Given the description of an element on the screen output the (x, y) to click on. 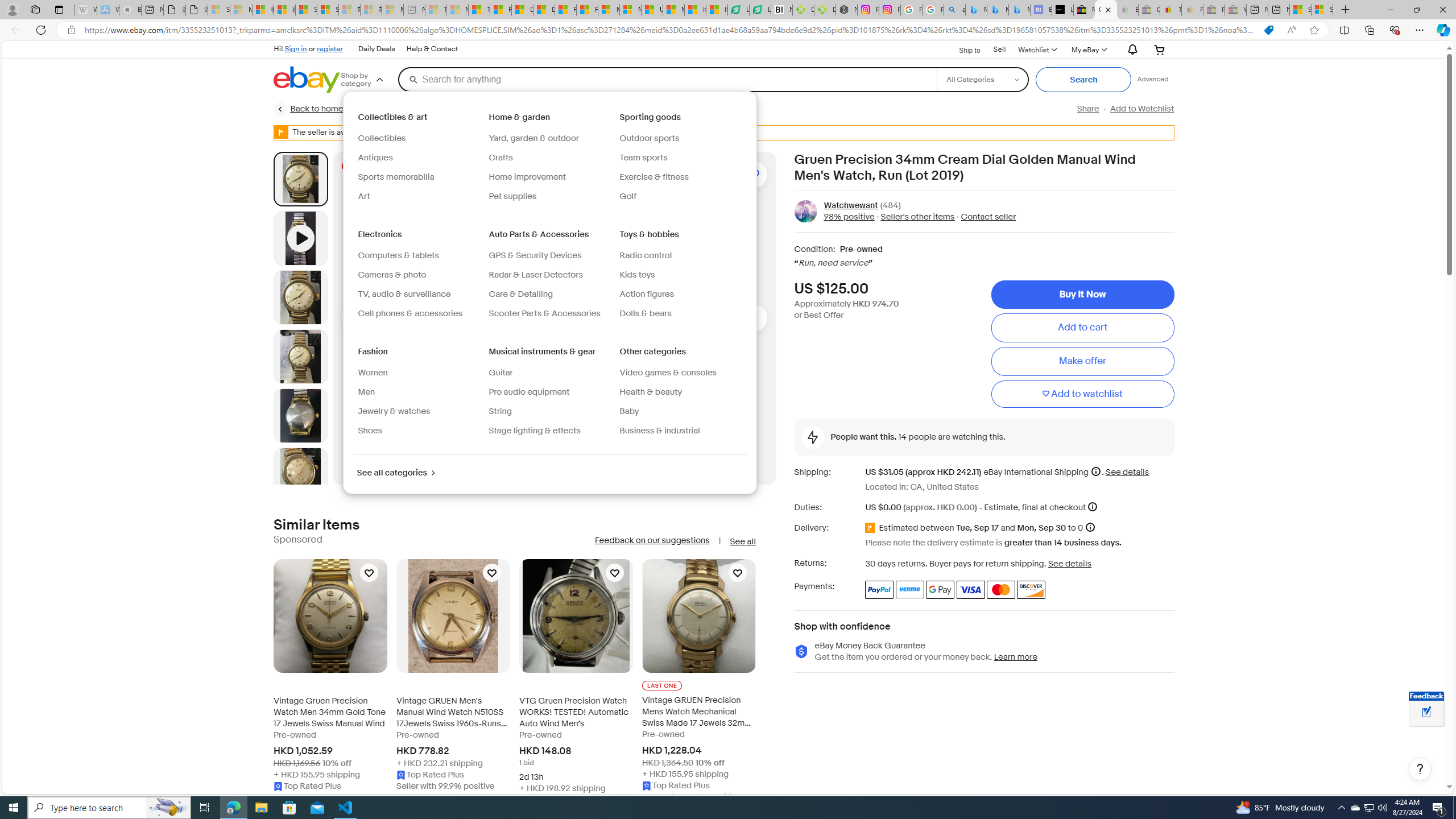
Watches, Parts & Accessories (518, 108)
  Seller's other items (914, 216)
Daily Deals (376, 49)
My eBay (1088, 49)
Select a category for search (981, 78)
Video 1 of 1 (300, 237)
Crafts (499, 157)
Opens image gallery (708, 174)
WatchlistExpand Watch List (1036, 49)
Top Stories - MSN - Sleeping (435, 9)
Dolls & bears (644, 313)
